Given the description of an element on the screen output the (x, y) to click on. 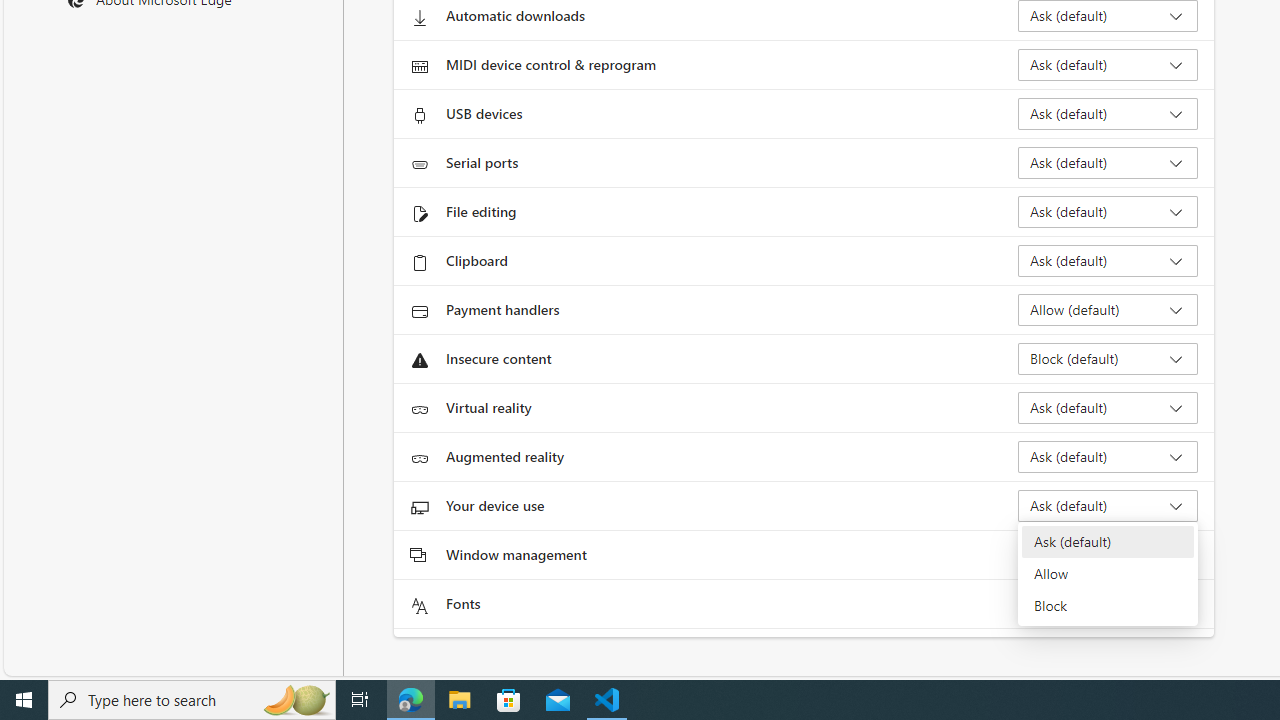
MIDI device control & reprogram Ask (default) (1107, 64)
USB devices Ask (default) (1107, 113)
Insecure content Block (default) (1107, 358)
Serial ports Ask (default) (1107, 162)
Window management Ask (default) (1107, 554)
Clipboard Ask (default) (1107, 260)
Fonts Ask (default) (1107, 603)
Augmented reality Ask (default) (1107, 456)
Virtual reality Ask (default) (1107, 407)
Payment handlers Allow (default) (1107, 309)
Your device use Ask (default) (1107, 506)
Block (1107, 605)
Ask (default) (1107, 542)
Allow (1107, 573)
File editing Ask (default) (1107, 211)
